Given the description of an element on the screen output the (x, y) to click on. 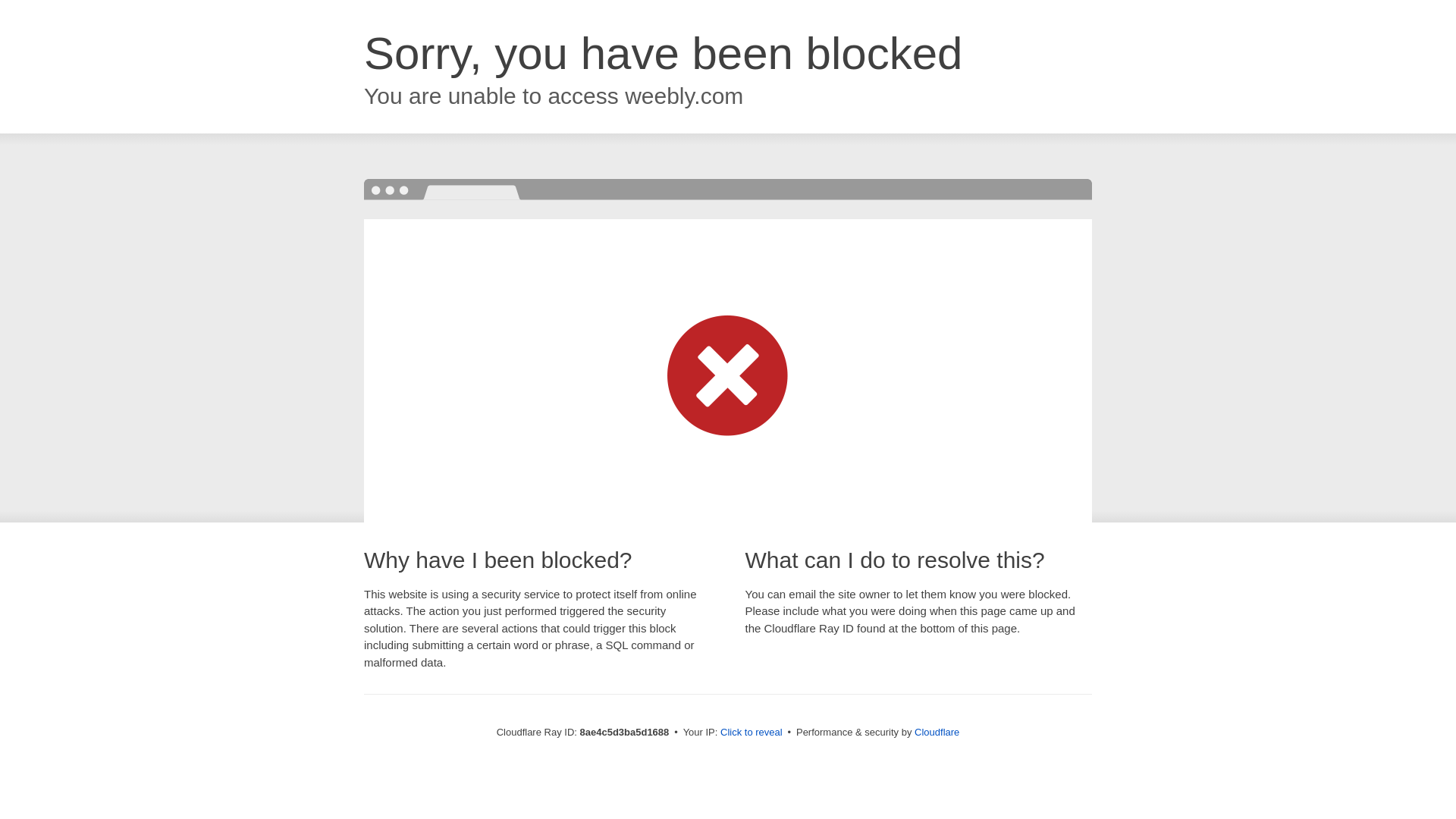
Cloudflare (936, 731)
Click to reveal (751, 732)
